Given the description of an element on the screen output the (x, y) to click on. 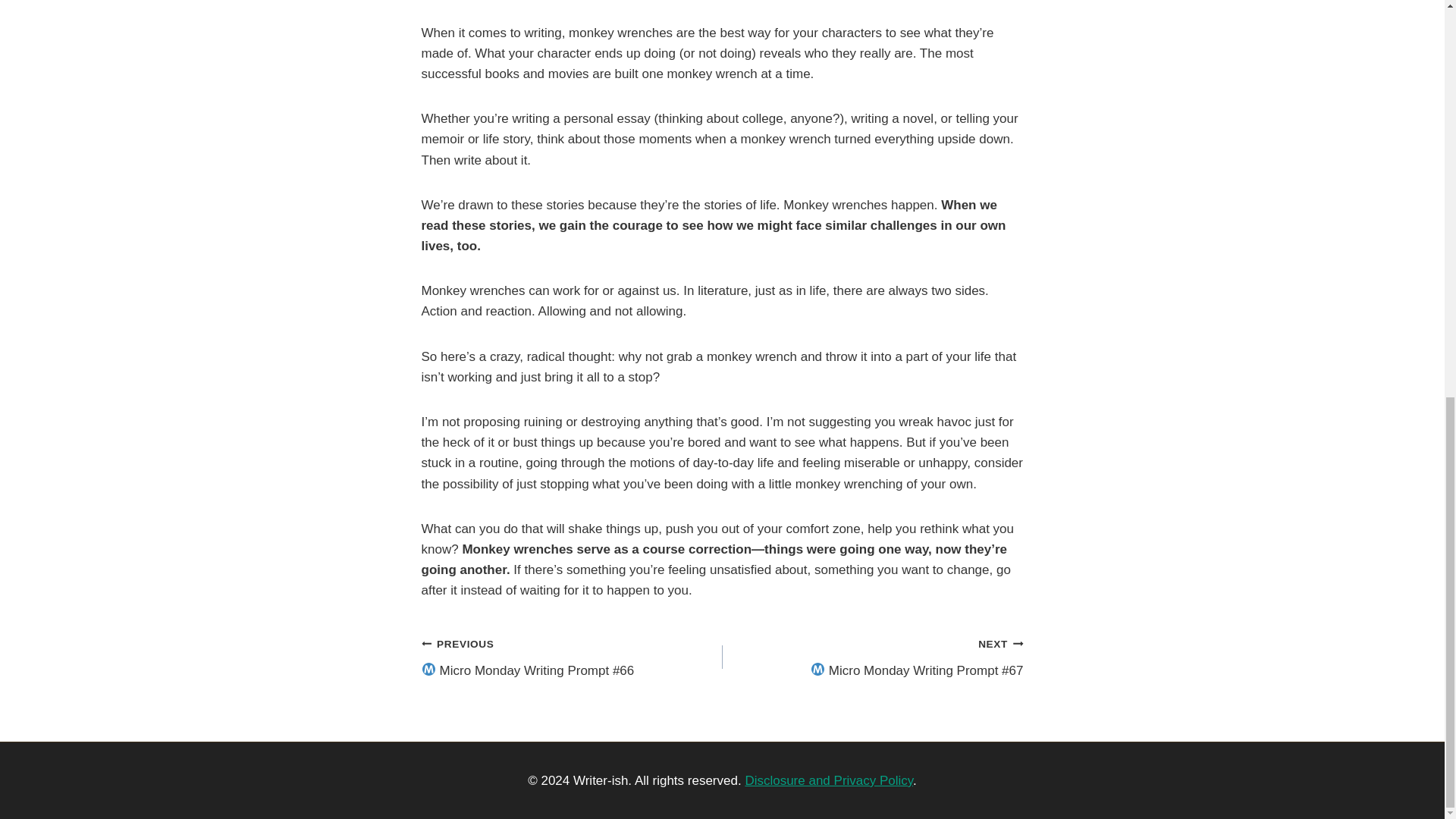
Disclosure and Privacy Policy (828, 780)
